Given the description of an element on the screen output the (x, y) to click on. 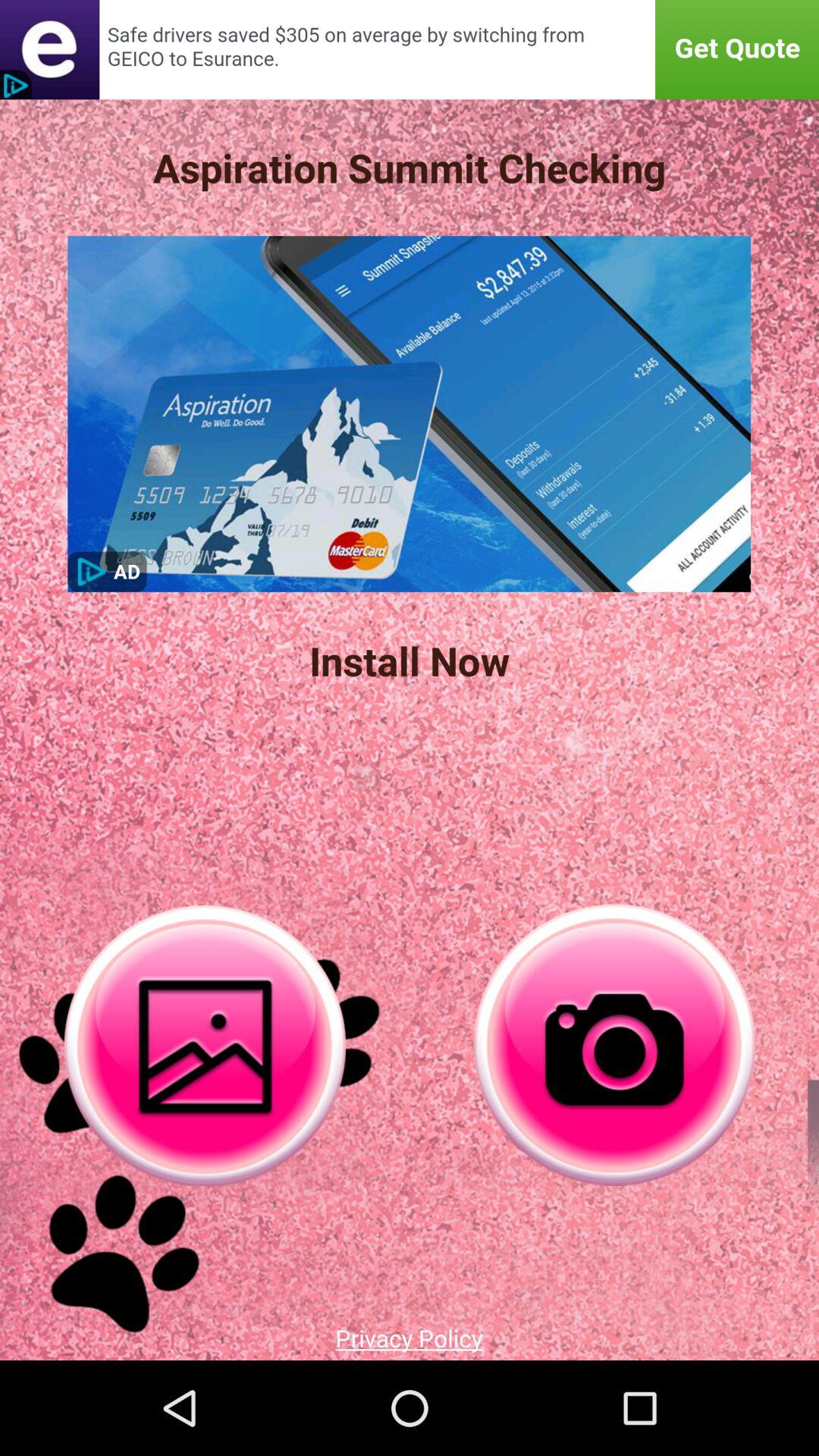
snap shot (204, 1044)
